Given the description of an element on the screen output the (x, y) to click on. 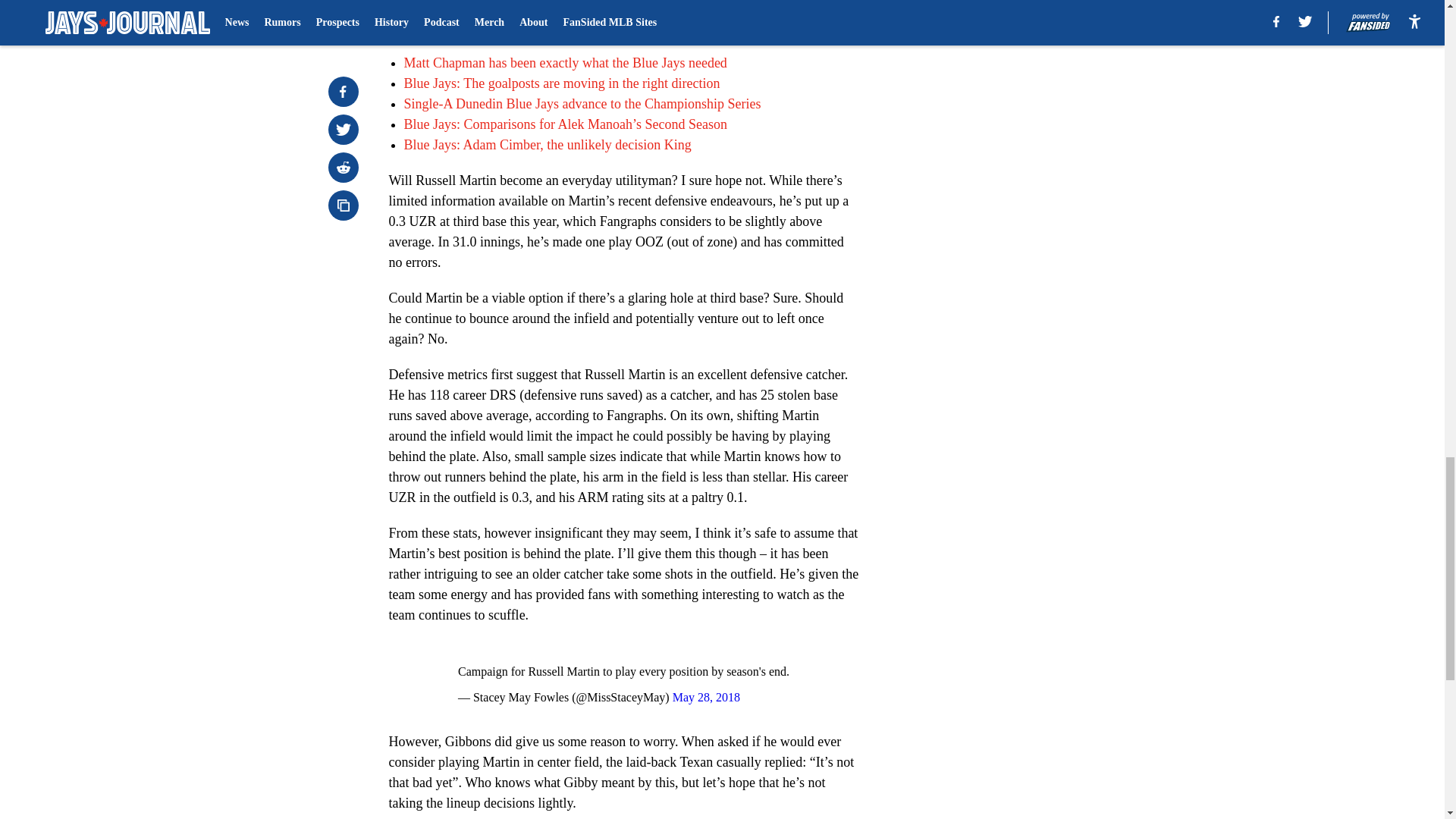
Blue Jays: Adam Cimber, the unlikely decision King (546, 144)
Matt Chapman has been exactly what the Blue Jays needed (564, 62)
May 28, 2018 (705, 697)
Blue Jays: The goalposts are moving in the right direction (561, 83)
